Given the description of an element on the screen output the (x, y) to click on. 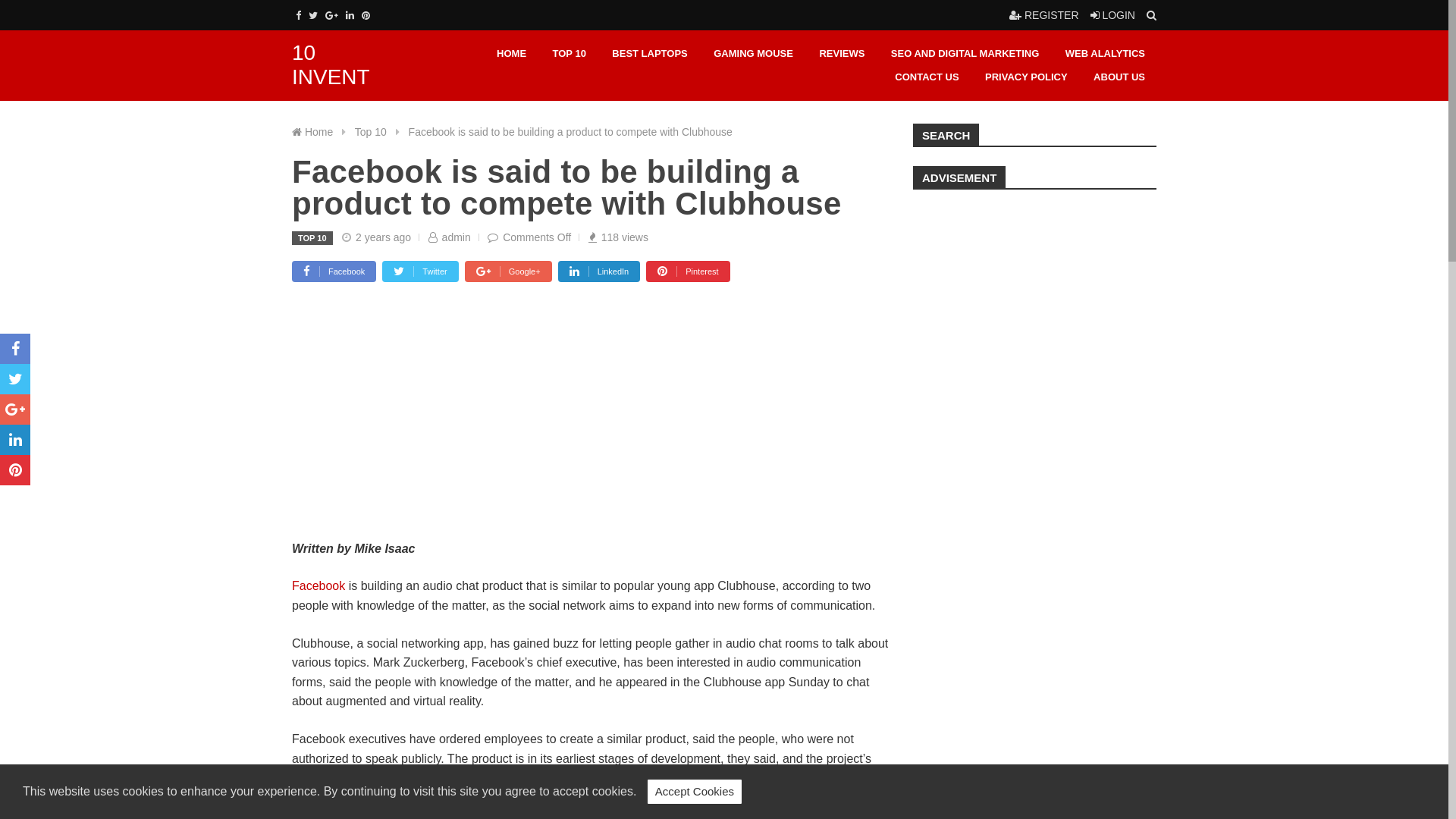
TOP 10 Element type: text (311, 237)
Home Element type: text (319, 131)
Facebook Element type: hover (298, 15)
SEO AND DIGITAL MARKETING Element type: text (964, 53)
WEB ALALYTICS Element type: text (1104, 53)
Facebook Element type: text (318, 585)
ABOUT US Element type: text (1118, 77)
Comments Off Element type: text (536, 237)
Pinterest Element type: text (687, 271)
Advertisement Element type: hover (590, 426)
Share on LinkedIn Element type: hover (15, 439)
TOP 10 Element type: text (569, 53)
HOME Element type: text (511, 53)
PRIVACY POLICY Element type: text (1026, 77)
10 INVENT Element type: text (330, 64)
REGISTER Element type: text (1043, 15)
Pinterest Element type: hover (365, 15)
LinkedIn Element type: hover (349, 15)
admin Element type: text (456, 237)
Share on Pinterest Element type: hover (15, 470)
Twitter Element type: hover (312, 15)
Google+ Element type: text (508, 271)
Advertisement Element type: hover (1034, 299)
BEST LAPTOPS Element type: text (649, 53)
Google+ Element type: hover (331, 15)
Twitter Element type: text (420, 271)
Share on Twitter Element type: hover (15, 379)
LOGIN Element type: text (1112, 15)
CONTACT US Element type: text (926, 77)
LinkedIn Element type: text (599, 271)
Accept Cookies Element type: text (694, 791)
GAMING MOUSE Element type: text (753, 53)
Share on Facebook Element type: hover (15, 348)
Share on Google+ Element type: hover (15, 409)
Facebook Element type: text (333, 271)
Top 10 Element type: text (371, 131)
REVIEWS Element type: text (841, 53)
